Given the description of an element on the screen output the (x, y) to click on. 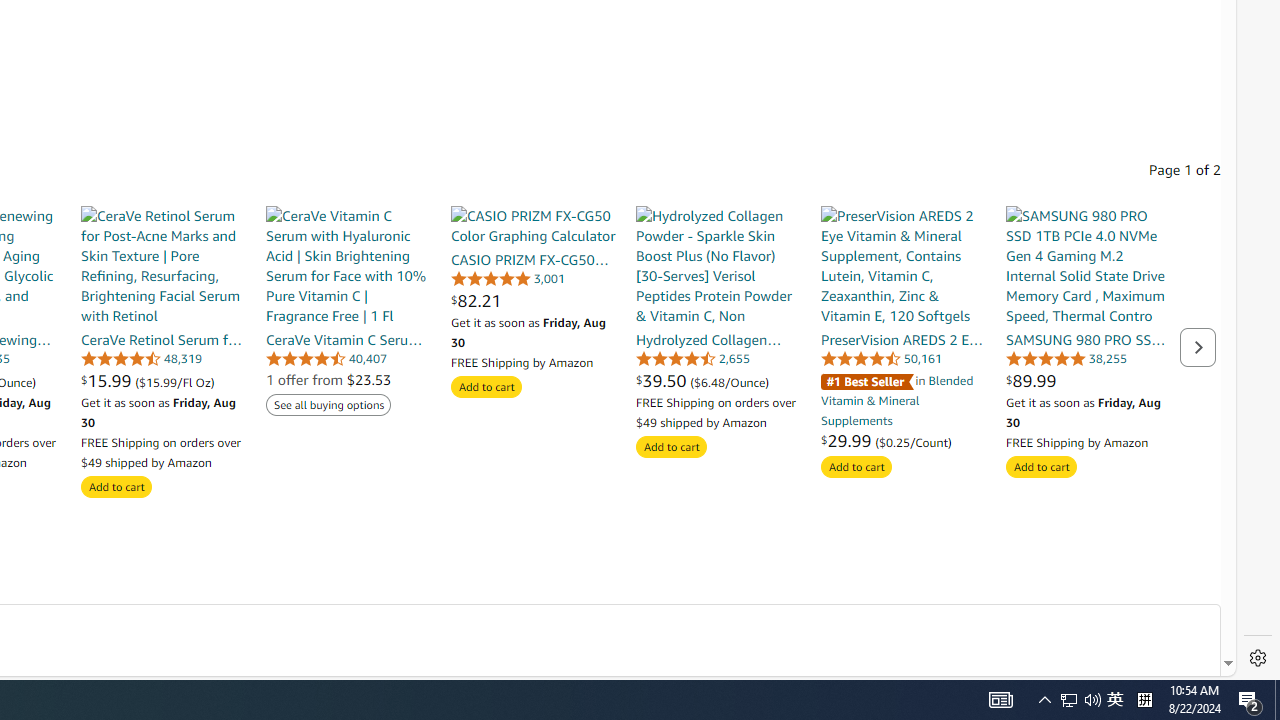
See all buying options (328, 405)
$29.99  (847, 440)
($6.48/Ounce) (729, 381)
Next page (1198, 346)
Class: a-link-normal a-text-normal (902, 440)
